Given the description of an element on the screen output the (x, y) to click on. 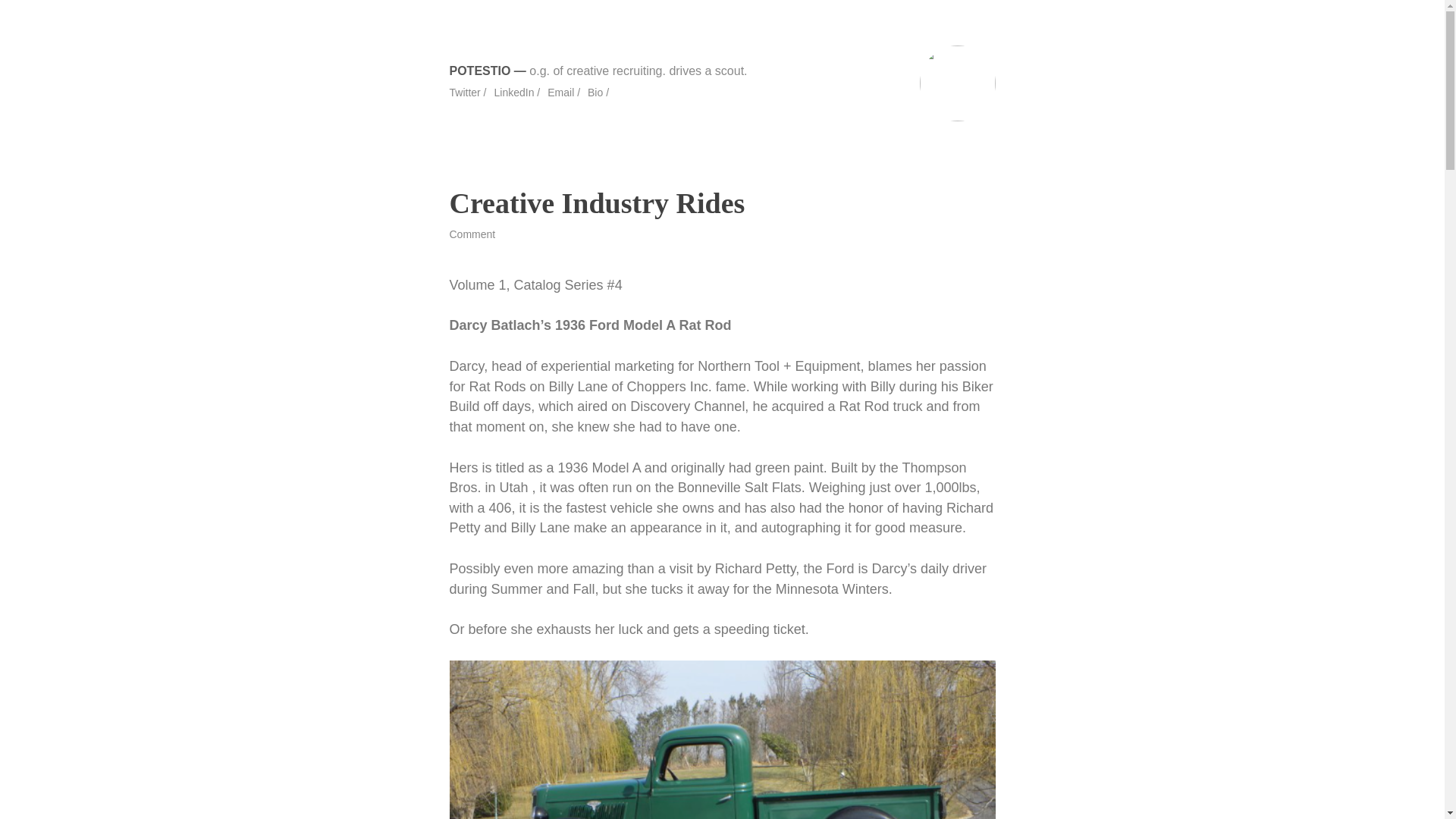
POTESTIO (479, 70)
POTESTIO (479, 70)
Comment (471, 234)
